Given the description of an element on the screen output the (x, y) to click on. 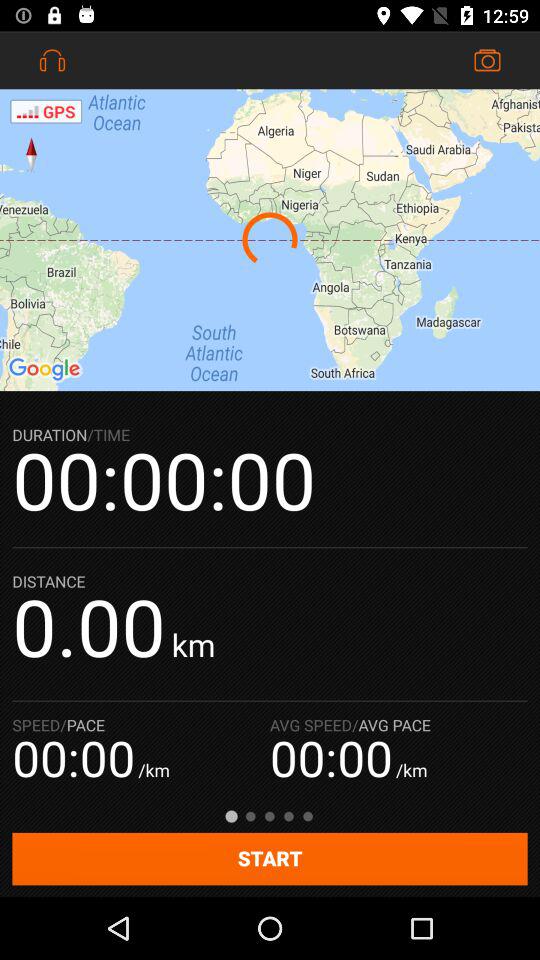
turn on the icon at the top right corner (487, 60)
